Given the description of an element on the screen output the (x, y) to click on. 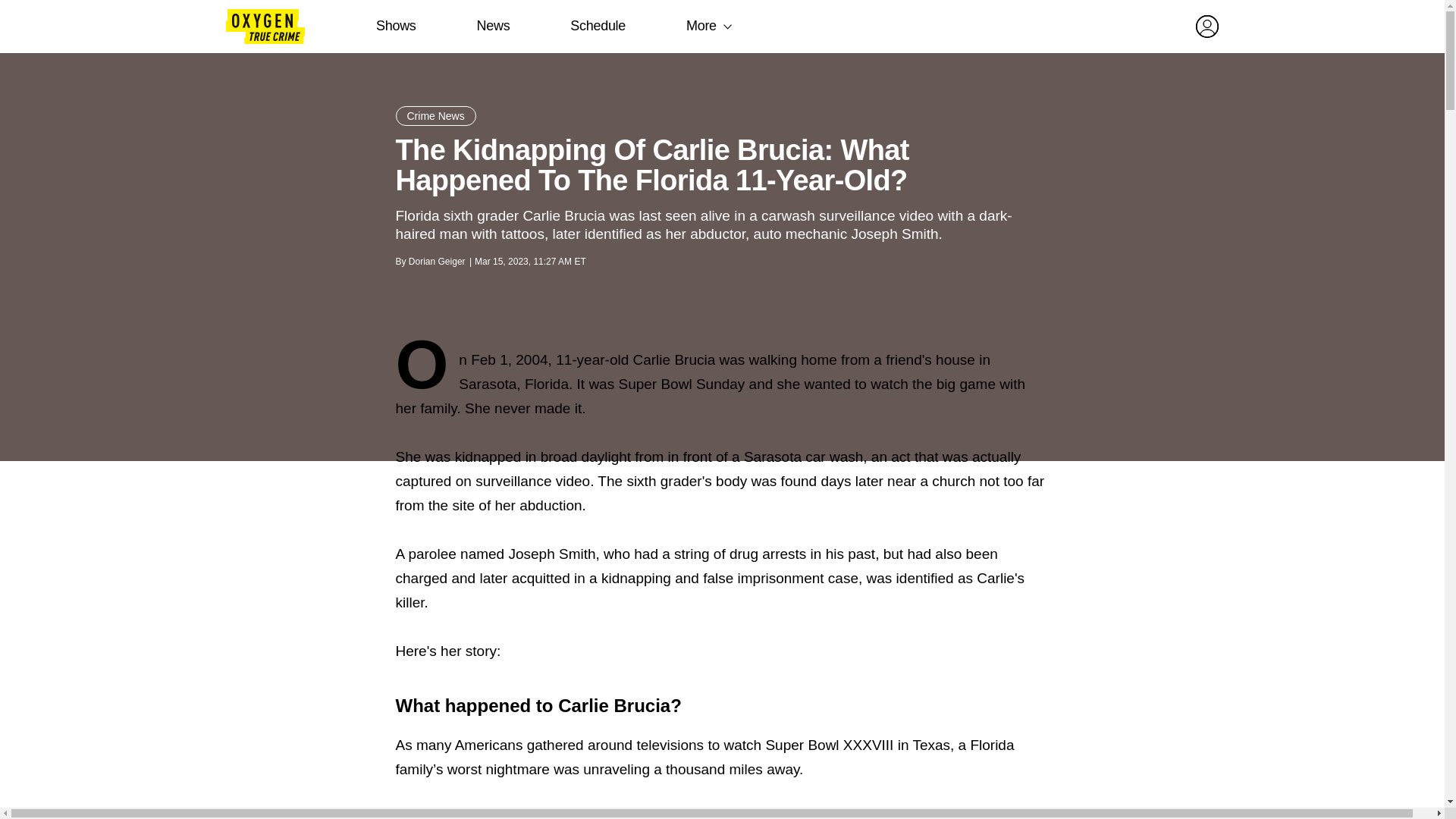
Schedule (598, 26)
Crime News (436, 116)
More (700, 26)
News (492, 26)
Shows (395, 26)
Dorian Geiger (437, 261)
